Given the description of an element on the screen output the (x, y) to click on. 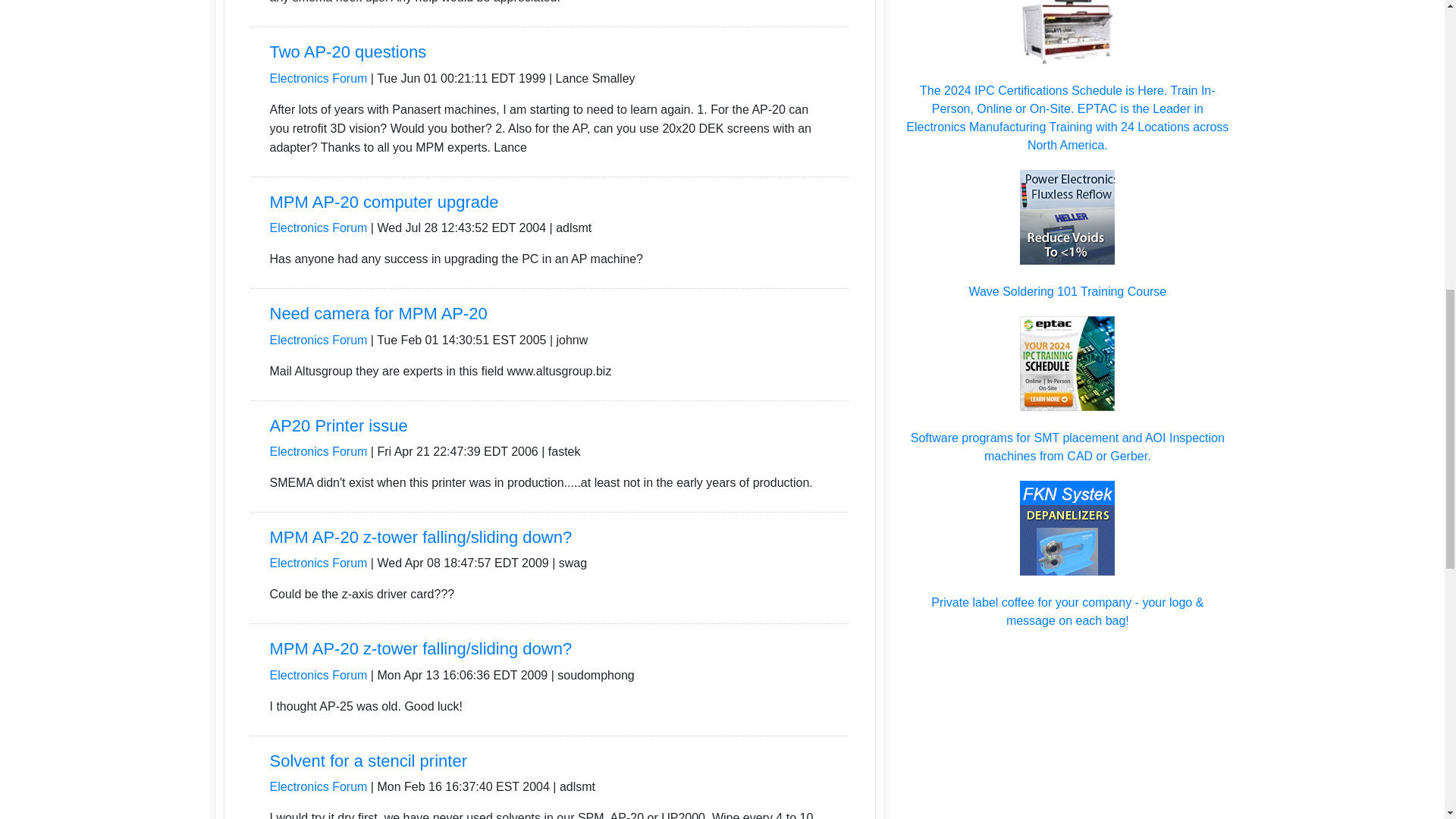
Electronics Forum (318, 78)
Electronics Forum (318, 227)
AP20 Printer issue (338, 425)
Electronics Forum (318, 675)
Need camera for MPM AP-20 (378, 312)
Electronics Forum (318, 339)
Electronics Forum (318, 786)
Solvent for a stencil printer (368, 760)
Two AP-20 questions (347, 51)
Electronics Forum (318, 451)
MPM AP-20 computer upgrade (384, 201)
Electronics Forum (318, 562)
